Given the description of an element on the screen output the (x, y) to click on. 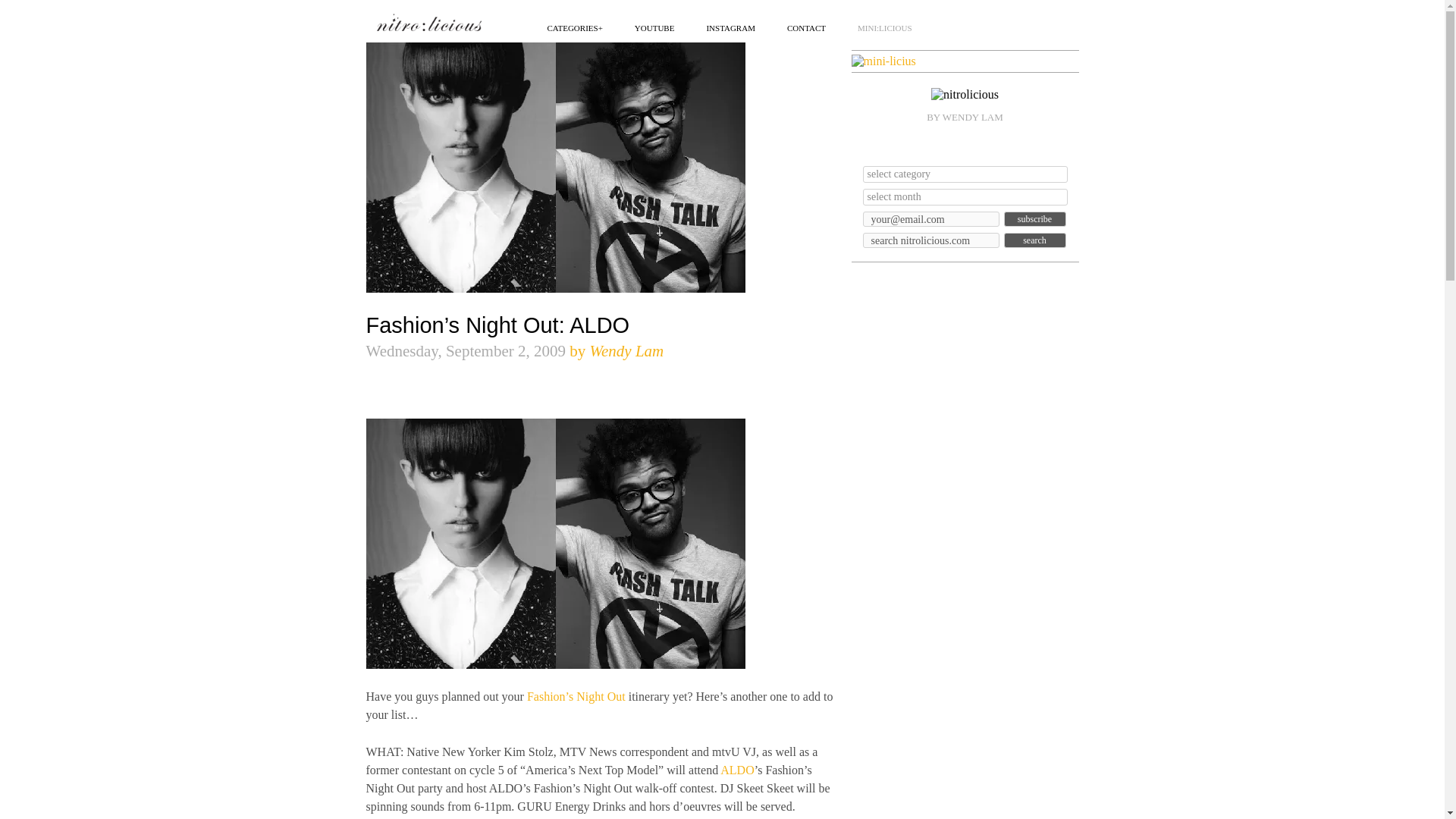
ALDO (737, 769)
Wendy Lam (626, 351)
INSTAGRAM (730, 28)
YOUTUBE (654, 28)
Subscribe (1034, 218)
CONTACT (806, 28)
Search (1034, 240)
MINI:LICIOUS (884, 28)
fno-2009-aldo (554, 543)
